Given the description of an element on the screen output the (x, y) to click on. 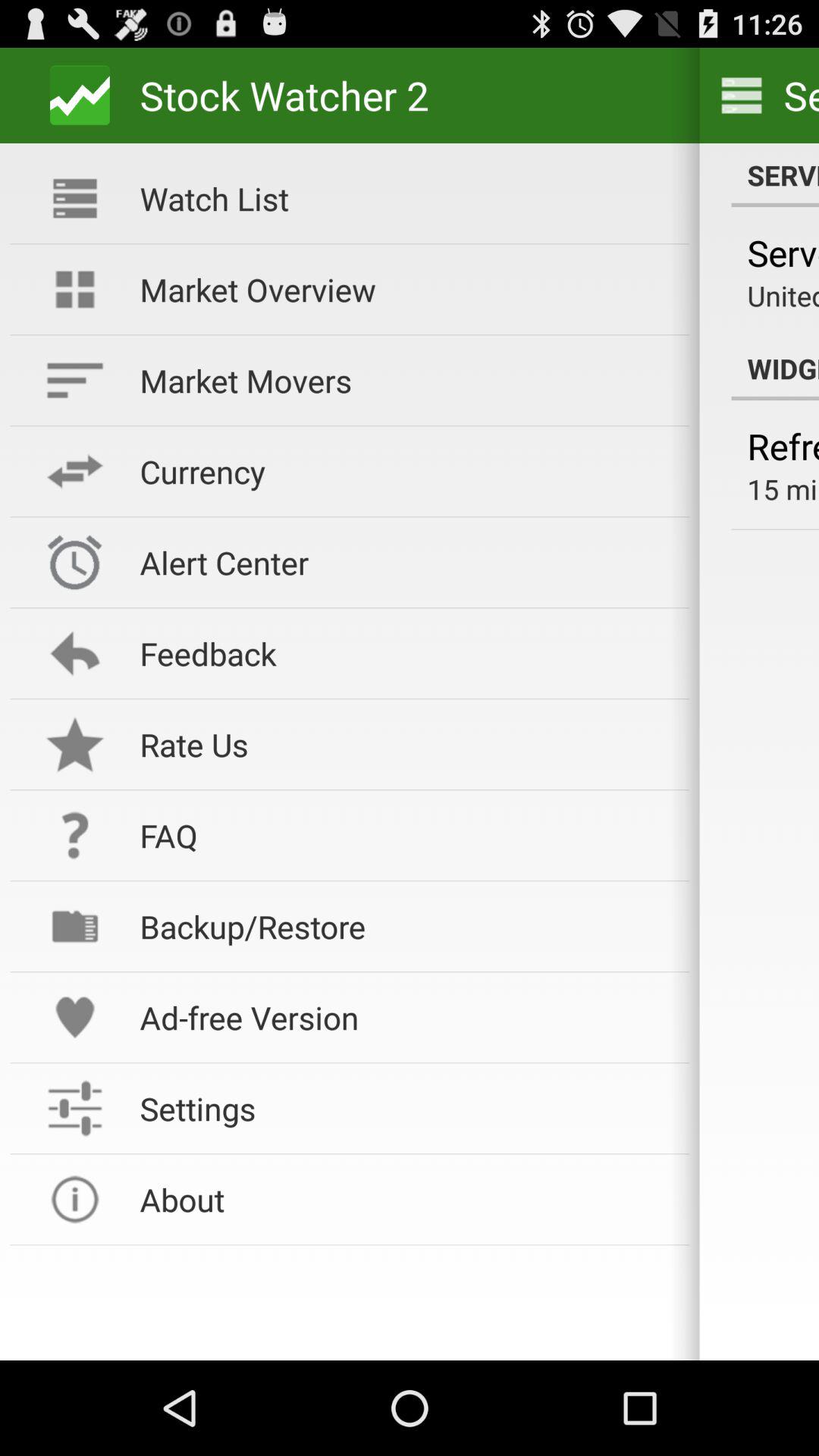
open the icon next to market overview icon (775, 368)
